Given the description of an element on the screen output the (x, y) to click on. 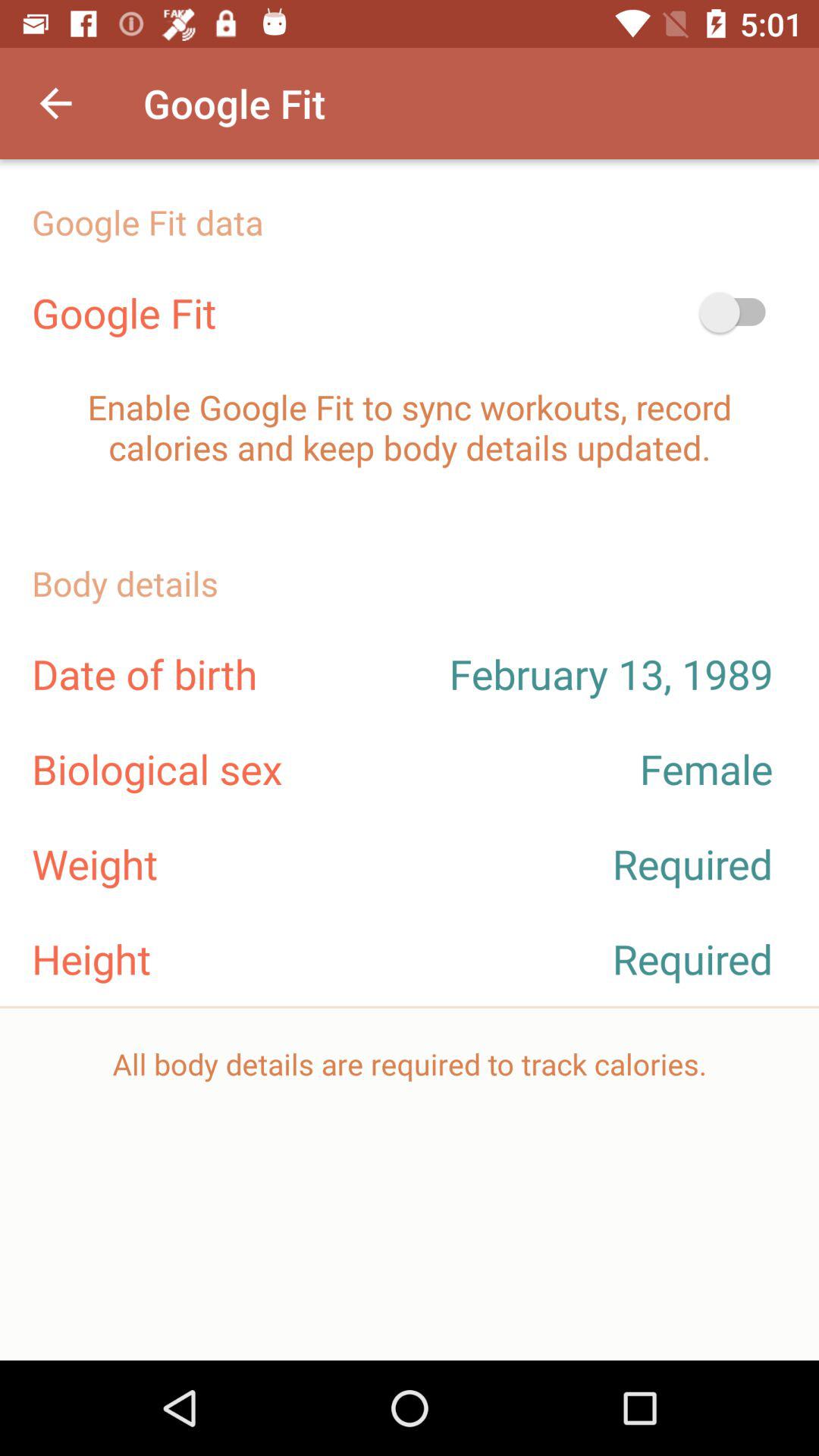
press item to the right of google fit (739, 312)
